Given the description of an element on the screen output the (x, y) to click on. 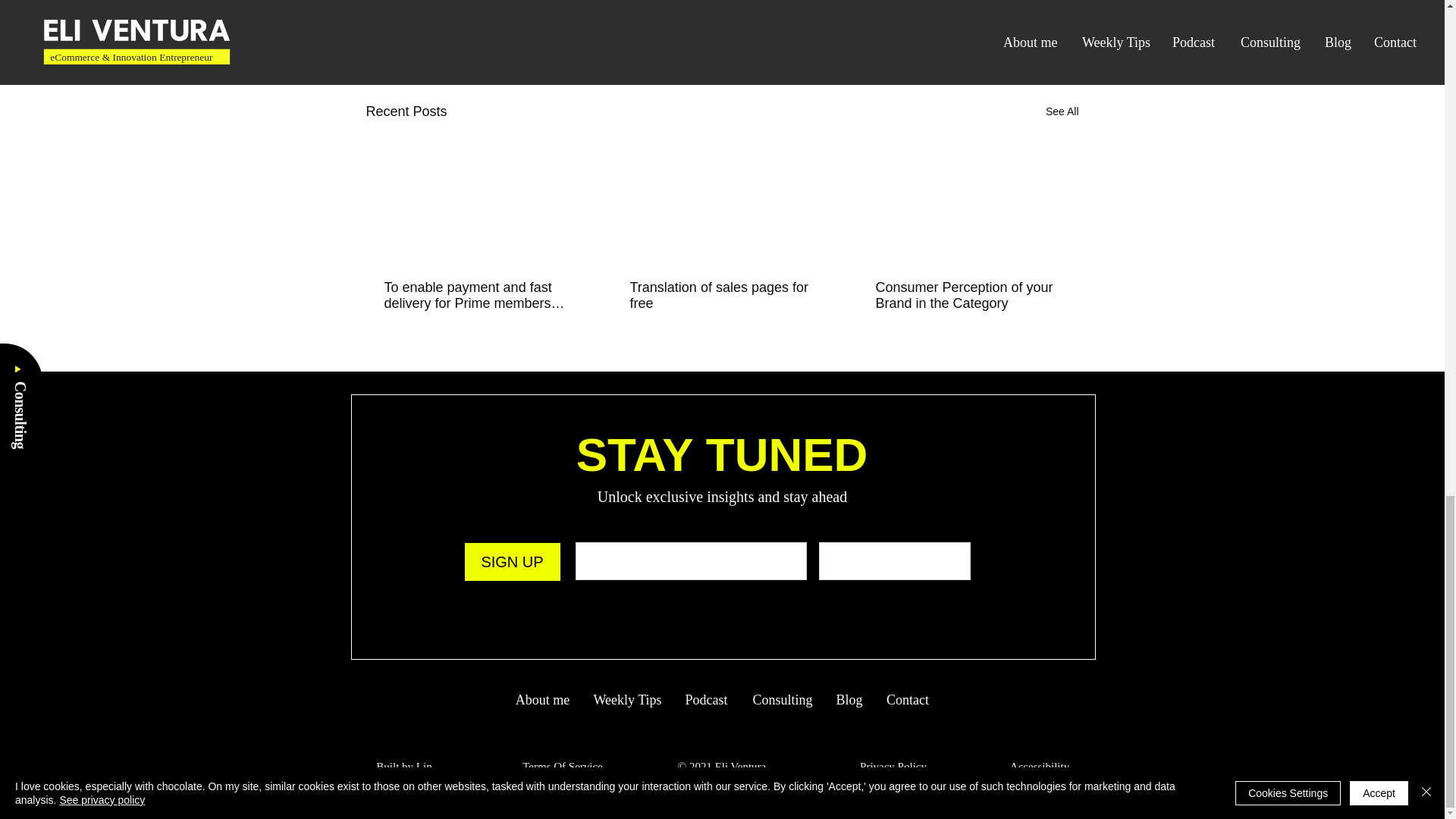
Accessibility (1039, 766)
Podcast (705, 700)
About me (542, 700)
Consulting (781, 700)
Translation of sales pages for free (720, 296)
Privacy Policy (893, 766)
See All (1061, 111)
Terms Of Service (562, 766)
Blog (850, 700)
Built by Lin (402, 766)
SIGN UP (511, 561)
Consumer Perception of your Brand in the Category (966, 296)
Contact (906, 700)
Weekly Tips (627, 700)
